Given the description of an element on the screen output the (x, y) to click on. 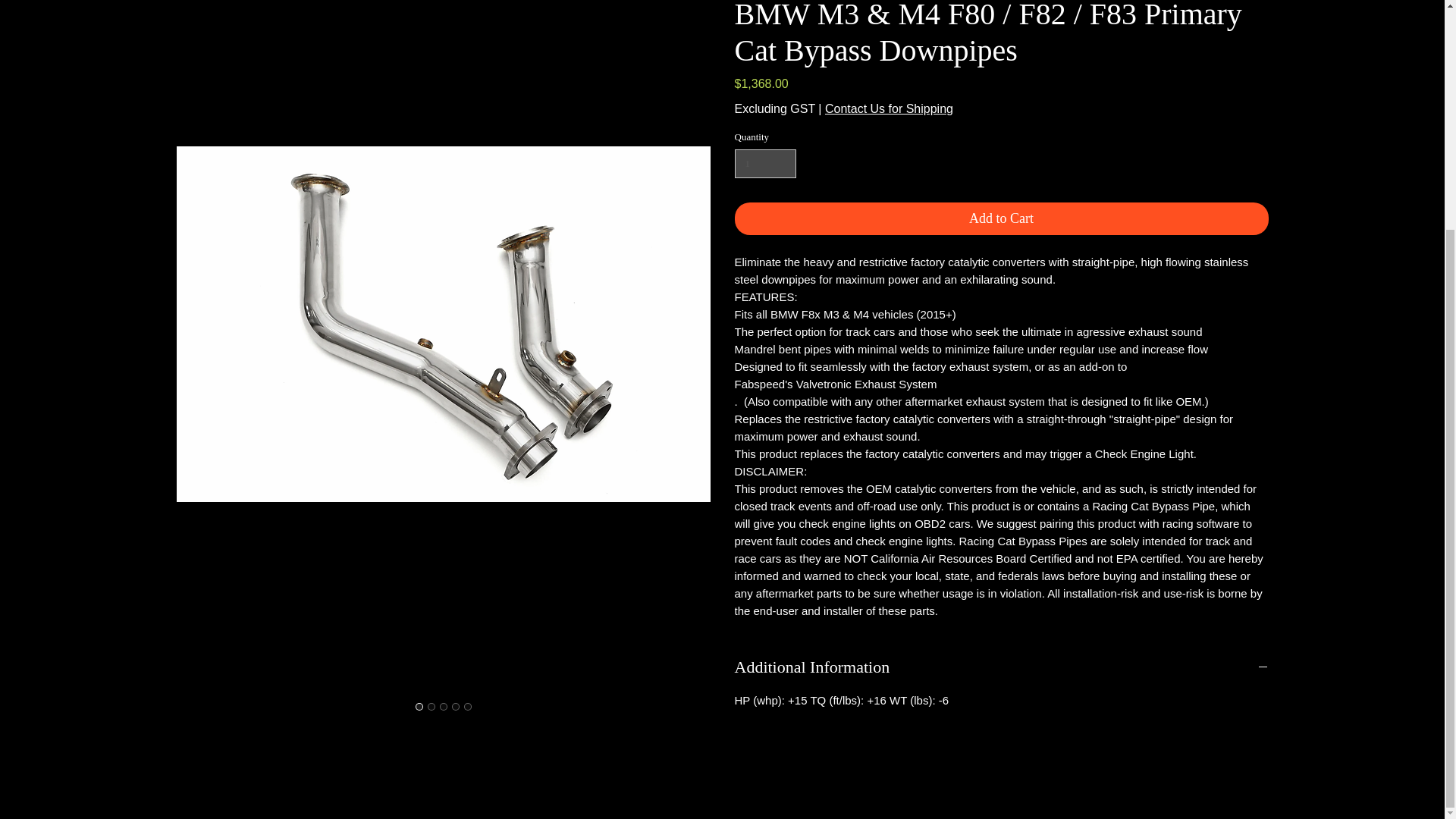
Additional Information (1000, 667)
Contact Us for Shipping (889, 109)
1 (764, 163)
Add to Cart (1000, 218)
